Given the description of an element on the screen output the (x, y) to click on. 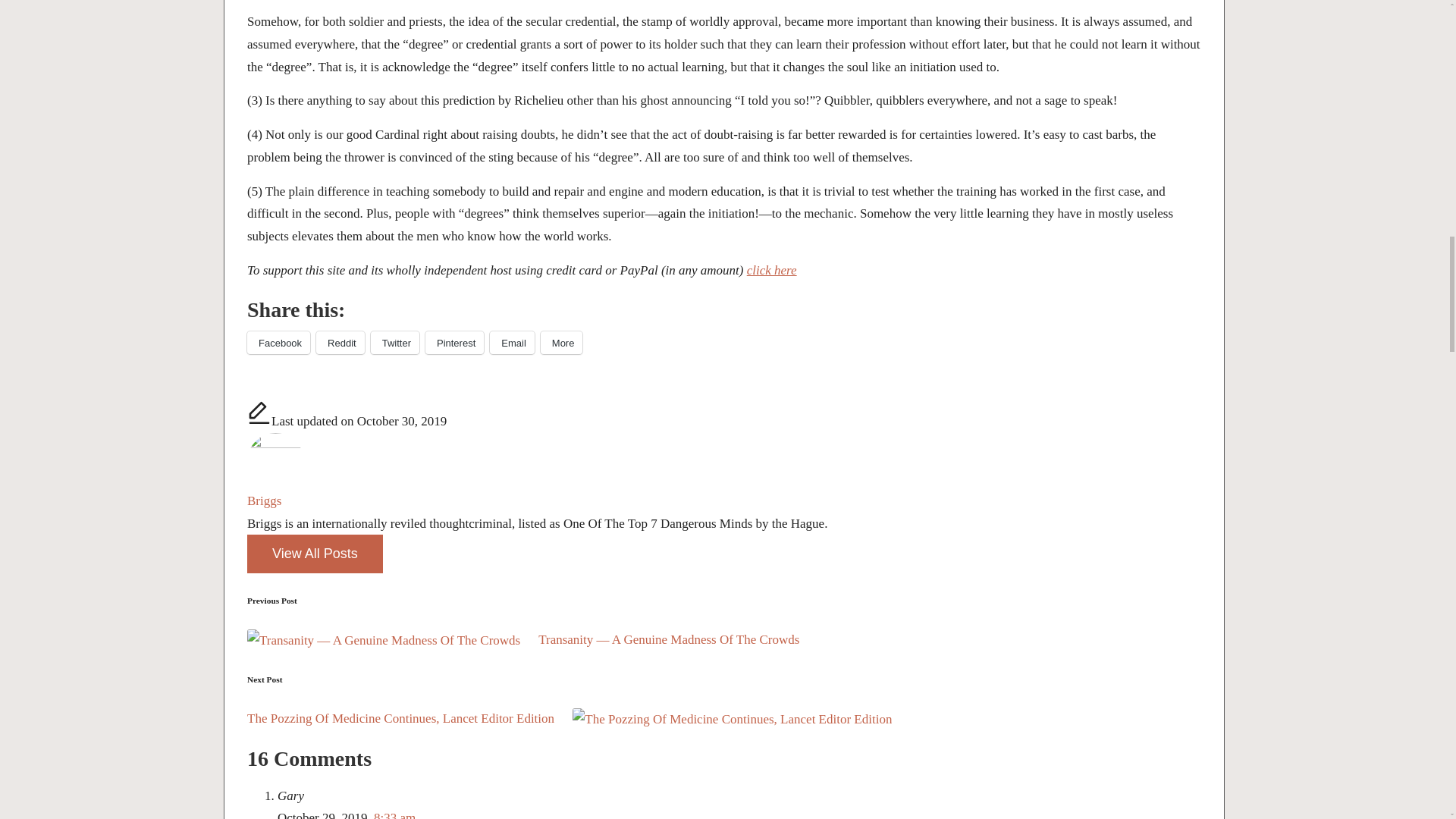
Briggs (264, 500)
More (561, 342)
Click to share on Reddit (340, 342)
View All Posts (314, 553)
Click to email a link to a friend (511, 342)
Reddit (340, 342)
Email (511, 342)
8:33 am (394, 814)
Click to share on Pinterest (454, 342)
The Pozzing Of Medicine Continues, Lancet Editor Edition (724, 719)
